Given the description of an element on the screen output the (x, y) to click on. 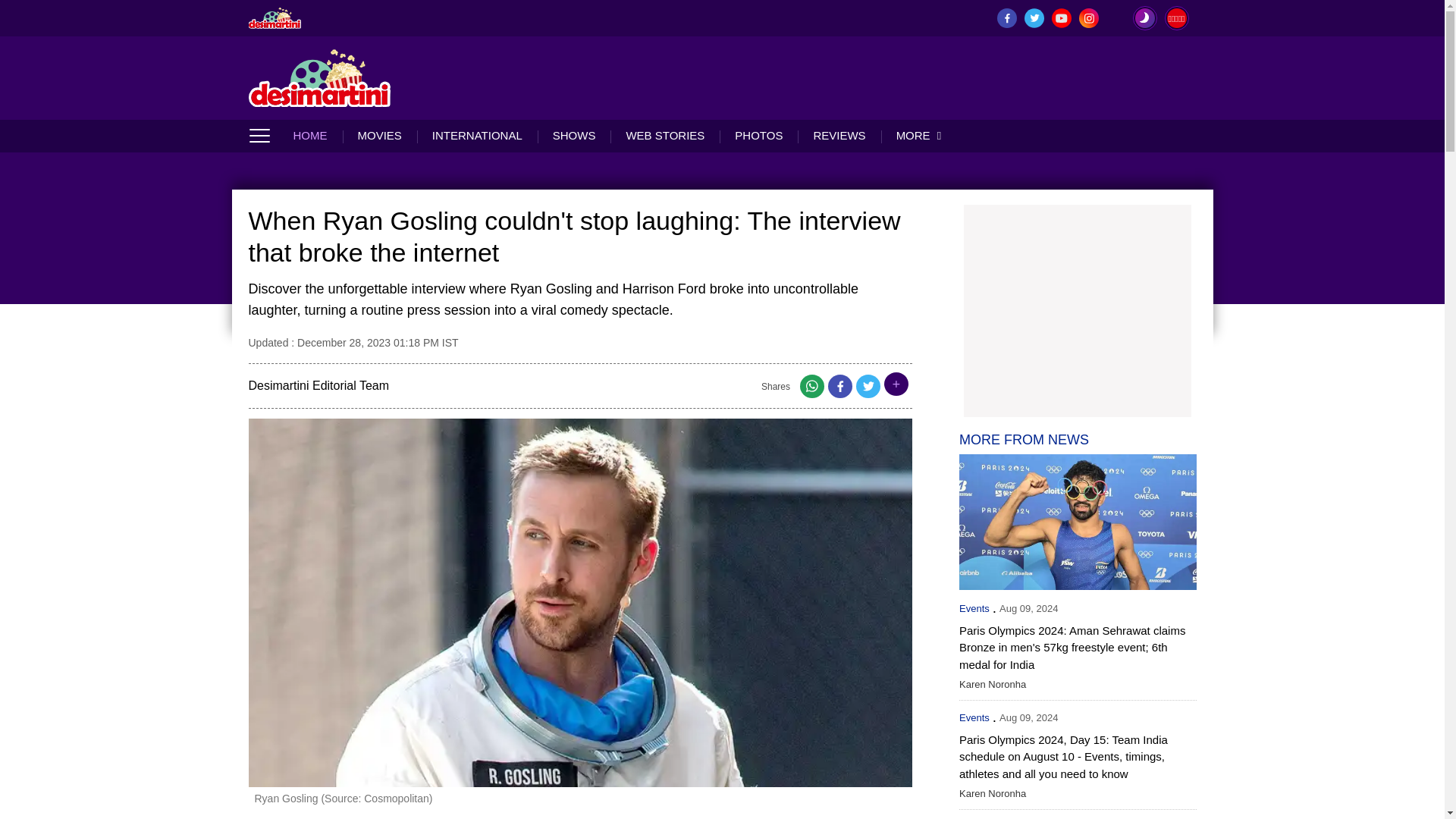
INTERNATIONAL (476, 135)
SHOWS (574, 135)
desimartini (274, 17)
HOME (317, 135)
WEB STORIES (664, 135)
REVIEWS (838, 135)
Facebook (839, 389)
MOVIES (379, 135)
PHOTOS (758, 135)
